Given the description of an element on the screen output the (x, y) to click on. 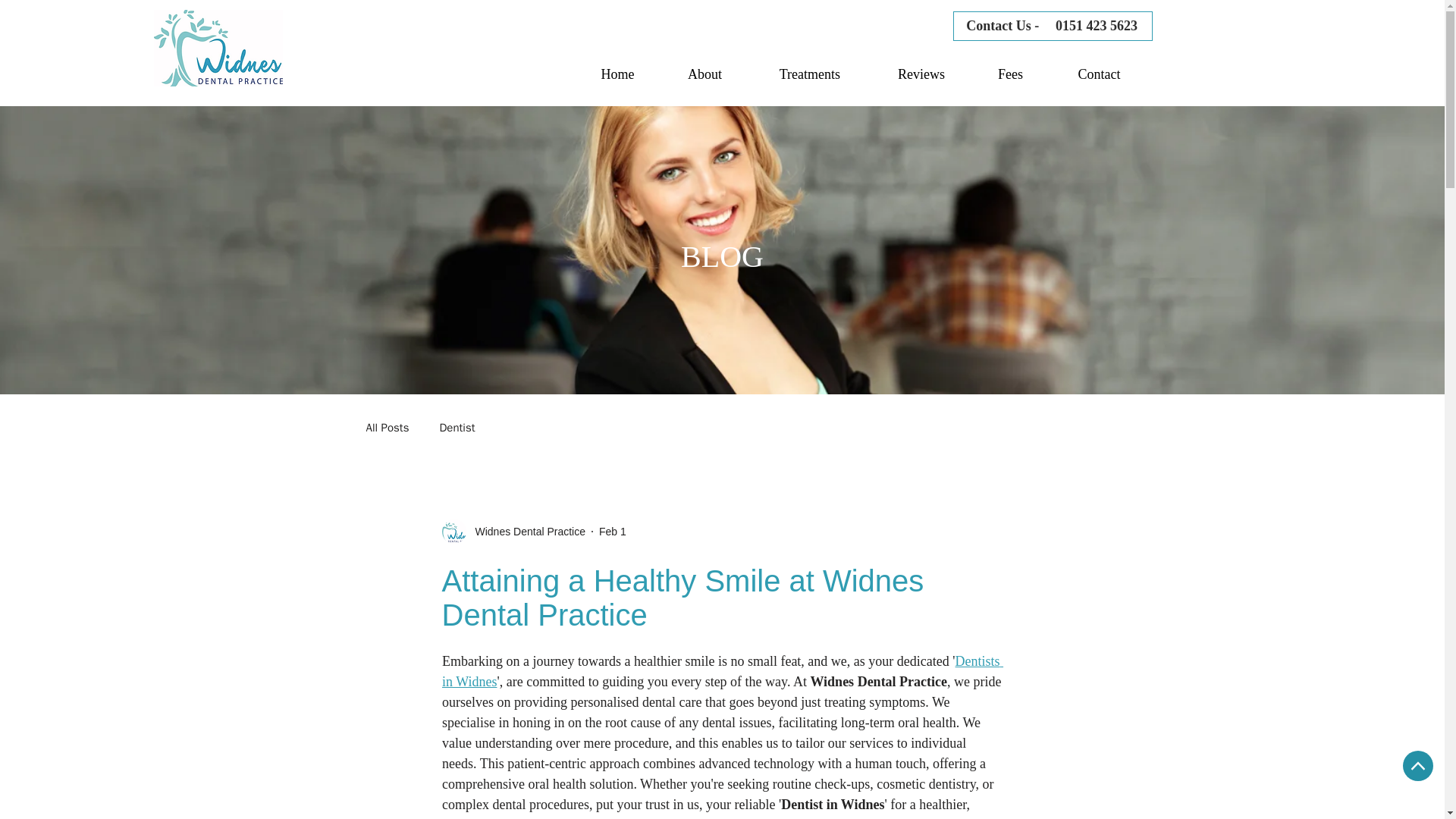
Contact (1098, 73)
Widnes Dental Practice (513, 531)
All Posts (387, 427)
Home (617, 73)
Widnes Dental Practice (525, 530)
0151 423 5623 (1096, 25)
Dentist (456, 427)
Reviews (920, 73)
Back To Top (1417, 766)
Treatments (809, 73)
